Given the description of an element on the screen output the (x, y) to click on. 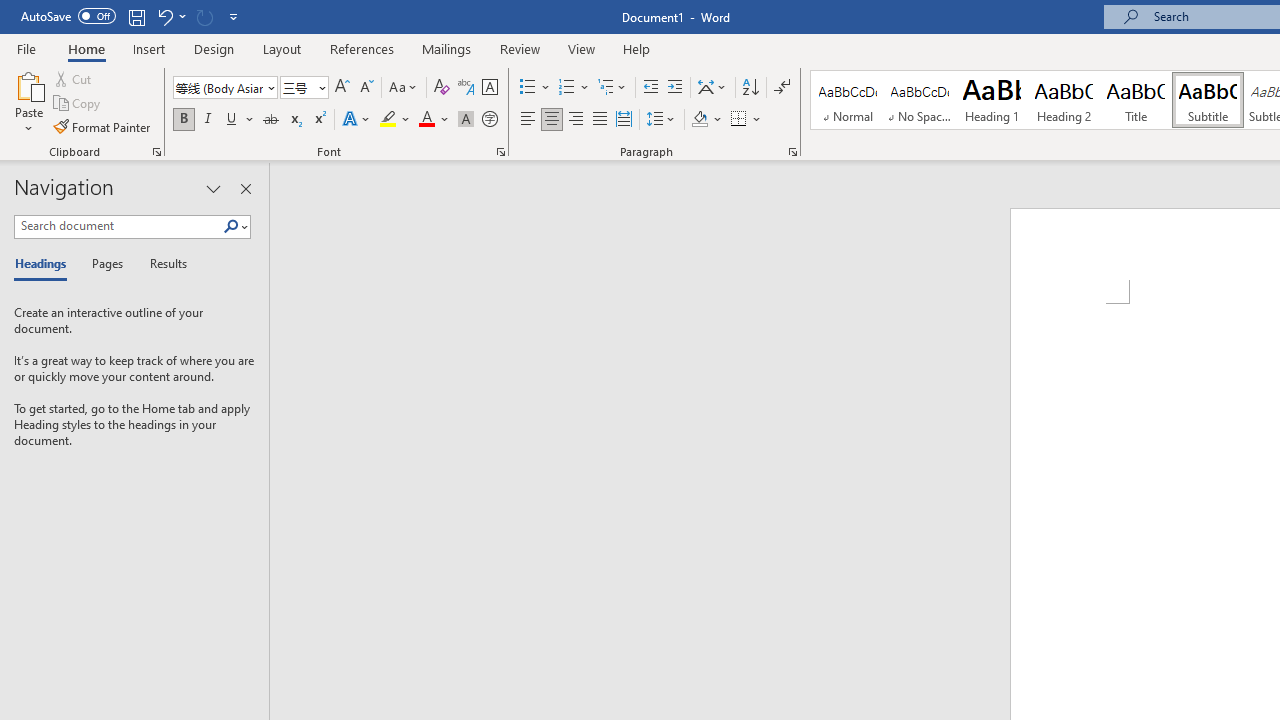
Font Color Red (426, 119)
Subtitle (1208, 100)
